Given the description of an element on the screen output the (x, y) to click on. 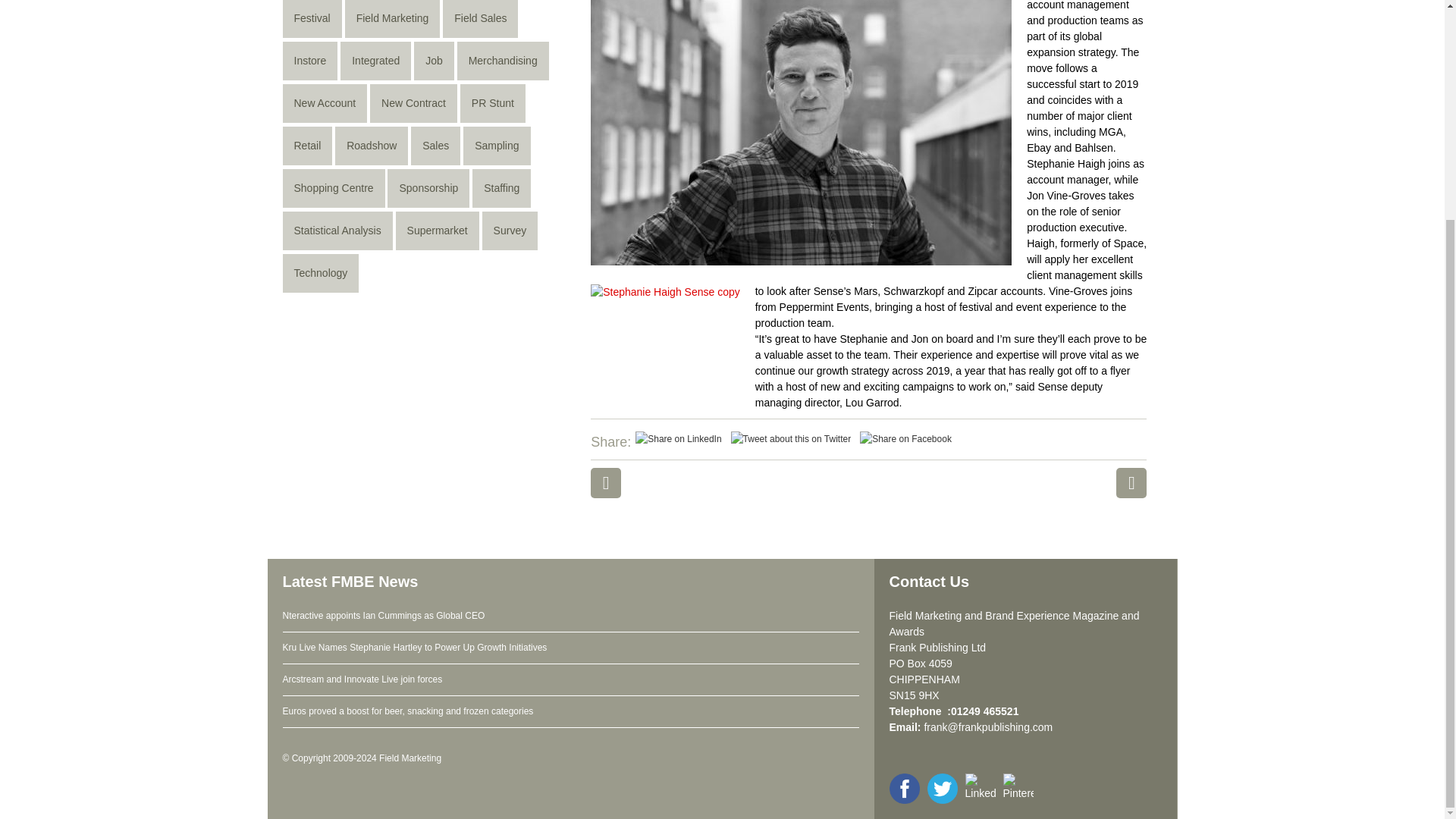
Twitter (791, 439)
LinkedIn (677, 439)
Facebook (906, 439)
